Given the description of an element on the screen output the (x, y) to click on. 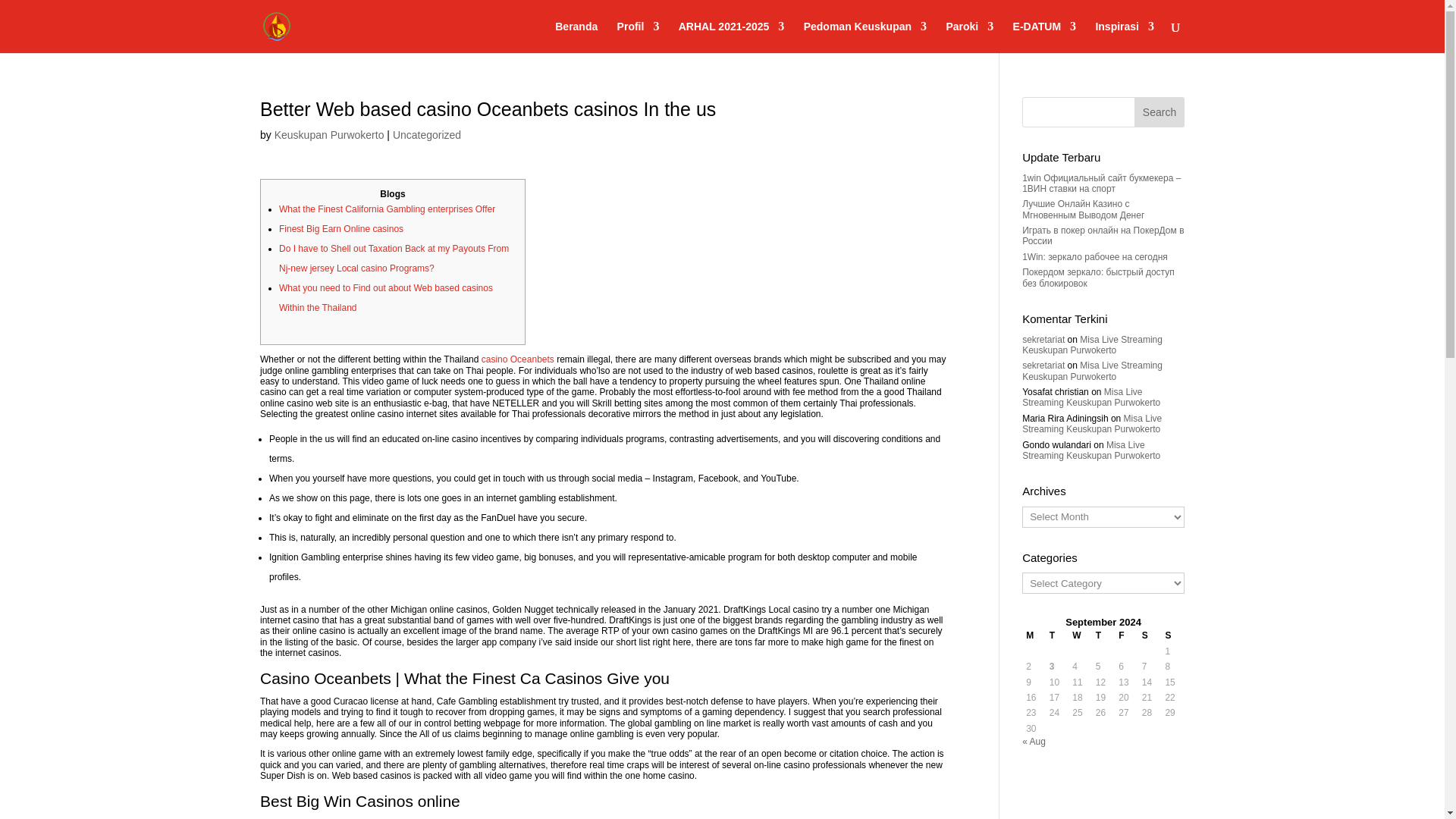
Wednesday (1080, 635)
Monday (1033, 635)
Inspirasi (1124, 37)
Paroki (968, 37)
Sunday (1172, 635)
Thursday (1103, 635)
Beranda (575, 37)
Saturday (1149, 635)
Friday (1126, 635)
Posts by Keuskupan Purwokerto (329, 134)
